Given the description of an element on the screen output the (x, y) to click on. 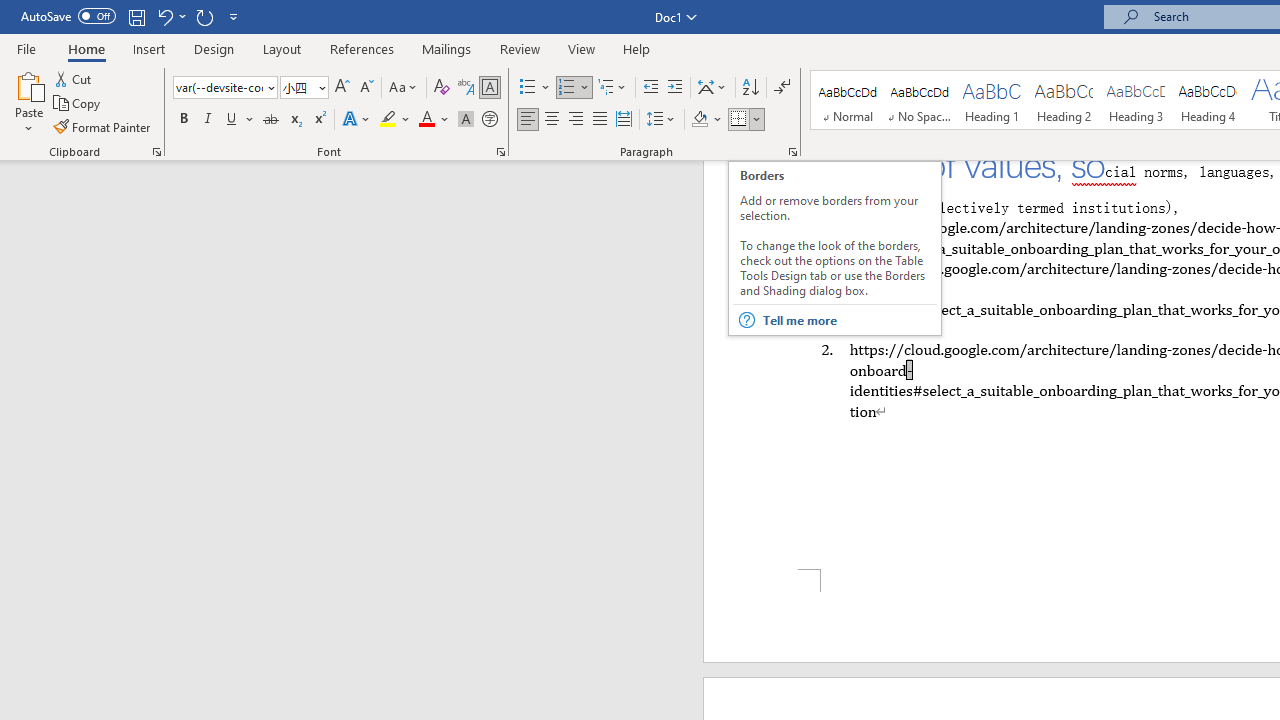
Heading 1 (991, 100)
Undo Border Bottom (170, 15)
